Given the description of an element on the screen output the (x, y) to click on. 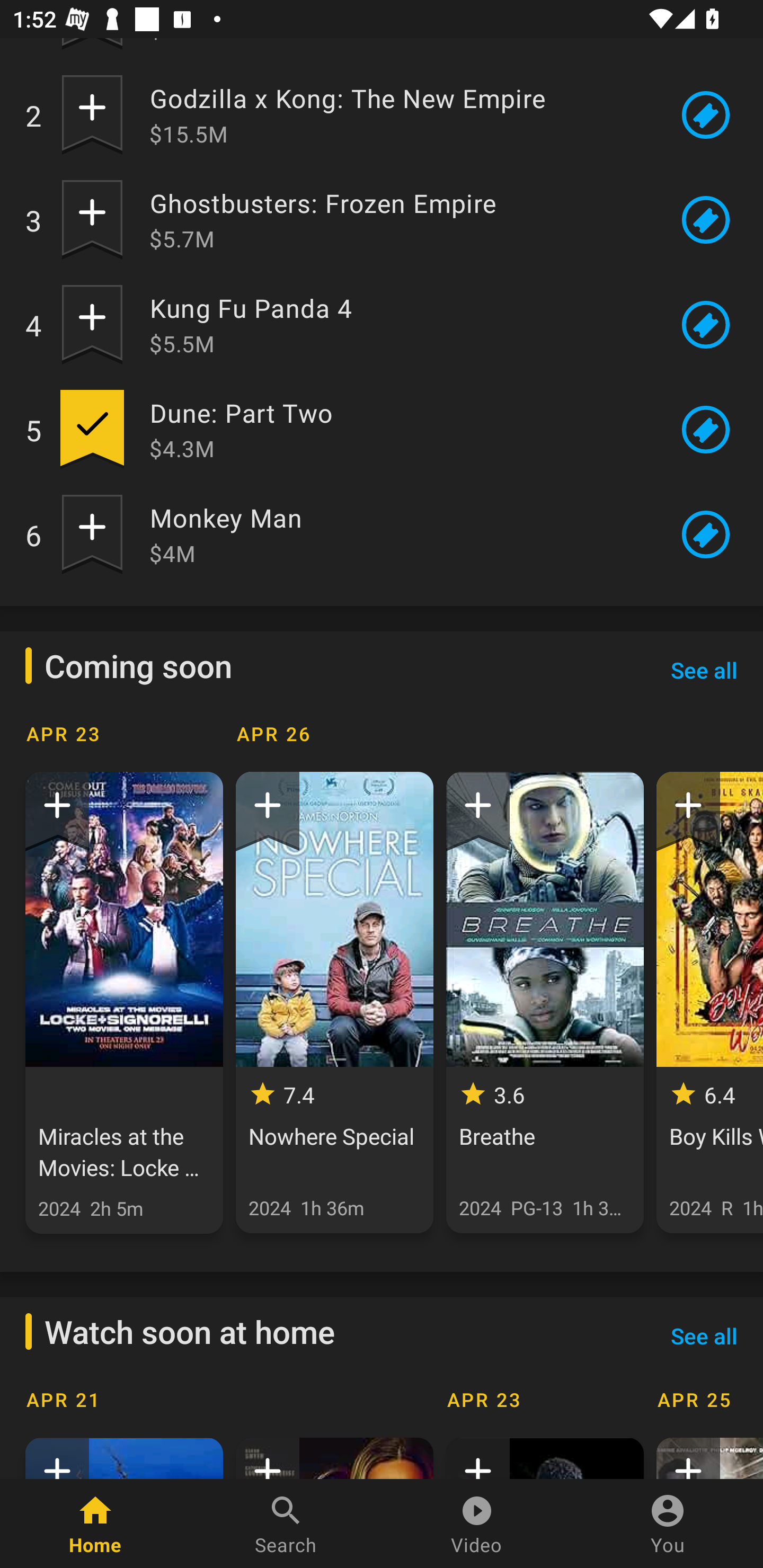
Godzilla x Kong: The New Empire $15.5M (398, 114)
Ghostbusters: Frozen Empire $5.7M (398, 220)
Kung Fu Panda 4 $5.5M (398, 324)
Dune: Part Two $4.3M (398, 429)
Monkey Man $4M (398, 533)
See all See all Coming soon (703, 669)
7.4 Nowhere Special 2024  1h 36m (334, 1001)
3.6 Breathe 2024  PG-13  1h 33m (544, 1001)
See all See all Watch soon at home (703, 1335)
Search (285, 1523)
Video (476, 1523)
You (667, 1523)
